Given the description of an element on the screen output the (x, y) to click on. 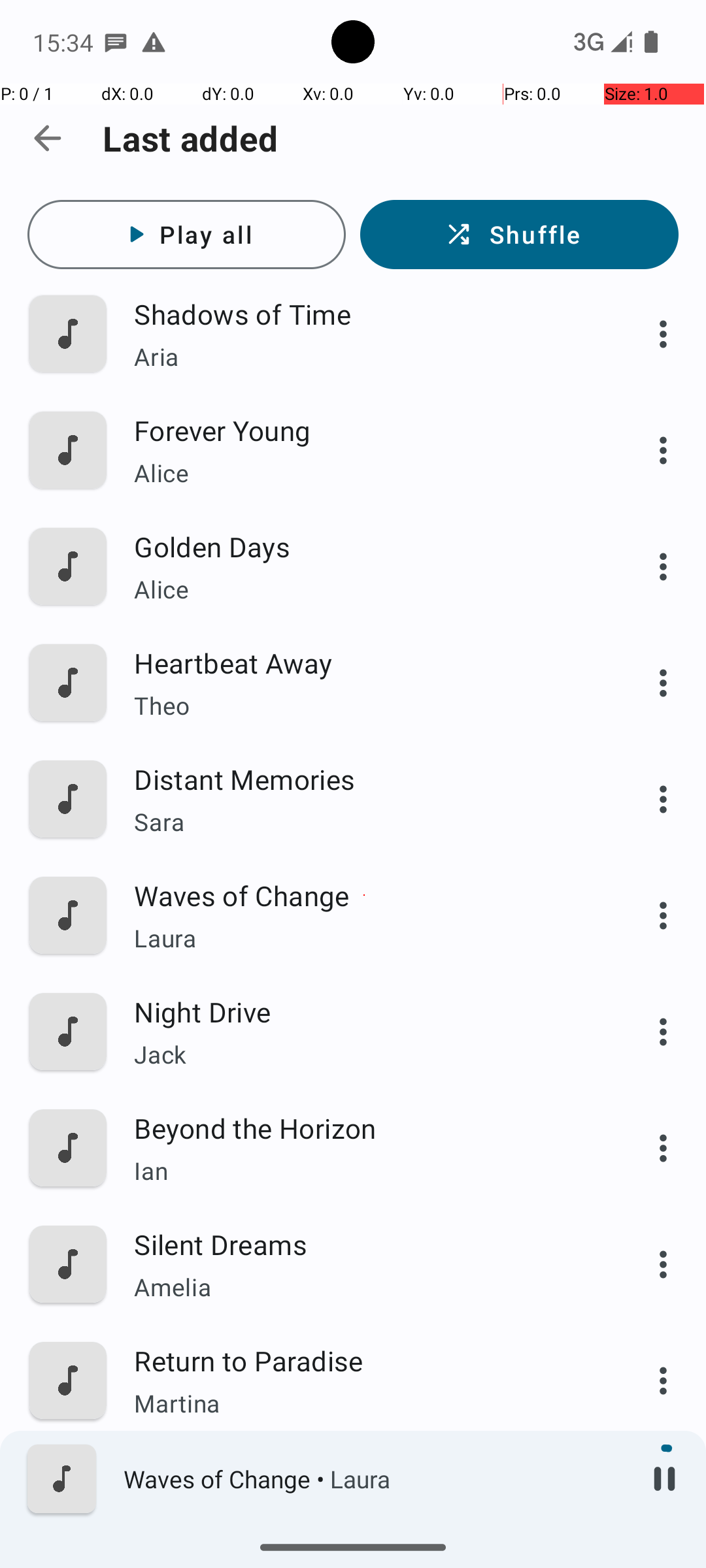
Last added Element type: android.widget.TextView (190, 137)
Waves of Change • Laura Element type: android.widget.TextView (372, 1478)
Play all Element type: android.widget.Button (186, 234)
Shuffle Element type: android.widget.Button (519, 234)
Shadows of Time Element type: android.widget.TextView (363, 313)
Aria Element type: android.widget.TextView (363, 356)
Forever Young Element type: android.widget.TextView (363, 429)
Alice Element type: android.widget.TextView (363, 472)
Golden Days Element type: android.widget.TextView (363, 546)
Heartbeat Away Element type: android.widget.TextView (363, 662)
Theo Element type: android.widget.TextView (363, 704)
Distant Memories Element type: android.widget.TextView (363, 778)
Sara Element type: android.widget.TextView (363, 821)
Waves of Change Element type: android.widget.TextView (363, 895)
Laura Element type: android.widget.TextView (363, 937)
Night Drive Element type: android.widget.TextView (363, 1011)
Jack Element type: android.widget.TextView (363, 1053)
Beyond the Horizon Element type: android.widget.TextView (363, 1127)
Ian Element type: android.widget.TextView (363, 1170)
Silent Dreams Element type: android.widget.TextView (363, 1243)
Amelia Element type: android.widget.TextView (363, 1286)
Return to Paradise Element type: android.widget.TextView (363, 1360)
Martina Element type: android.widget.TextView (363, 1402)
Path to Zenith Element type: android.widget.TextView (363, 1476)
Henry Element type: android.widget.TextView (363, 1518)
